Given the description of an element on the screen output the (x, y) to click on. 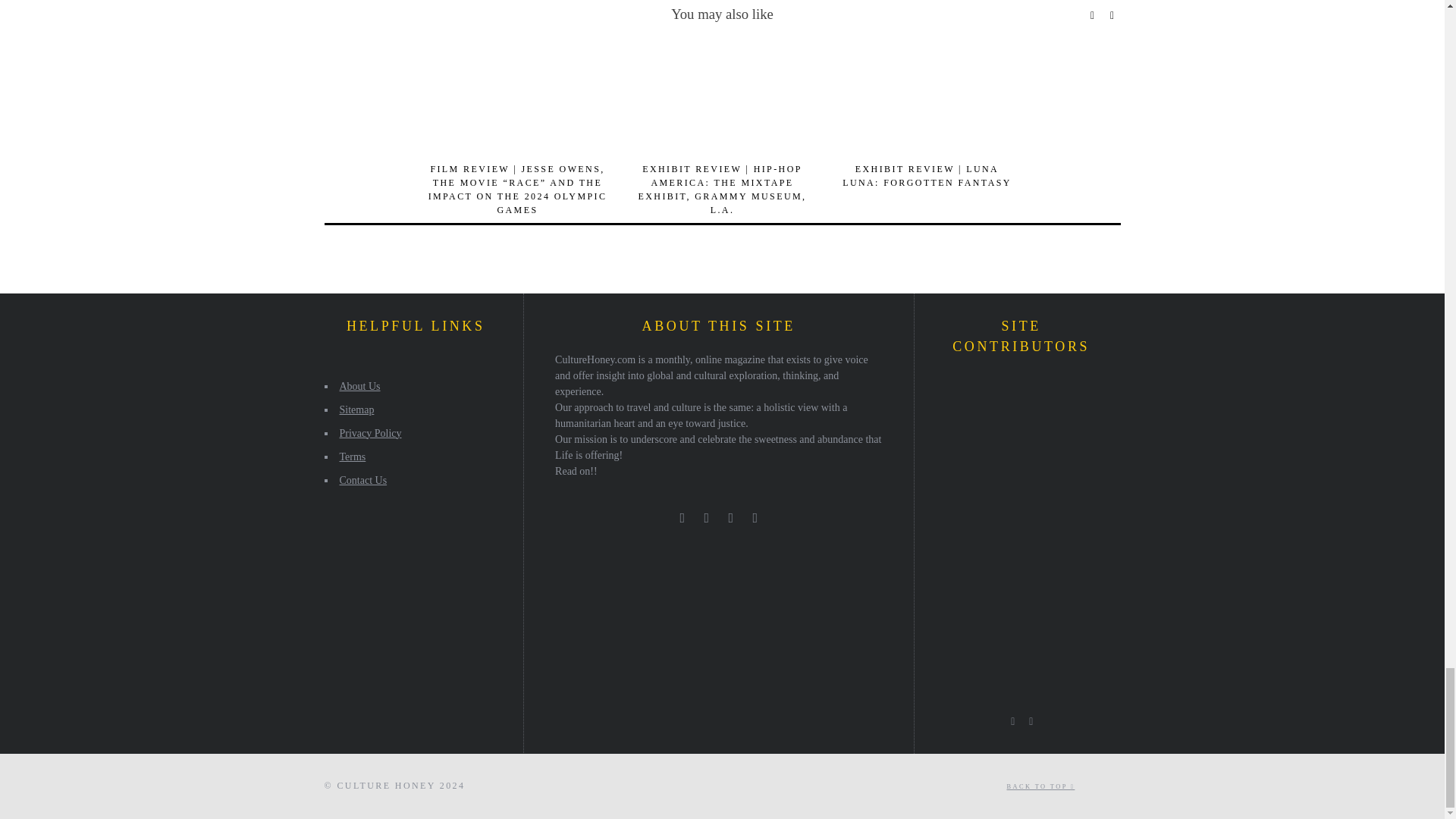
Max Boyle (992, 517)
Aurore Rominger (950, 391)
Emily Greene (992, 434)
Victoria Hernandez (1033, 517)
Julie Clark (992, 391)
Brian Biery (1075, 434)
Eden Huma (1075, 475)
Ken Bower (1033, 475)
Esther O'Loughlin (950, 475)
Jonathan Scott (1033, 434)
Natalie Patterson (992, 475)
James Farr (950, 517)
Kortni Sims (1033, 391)
